Given the description of an element on the screen output the (x, y) to click on. 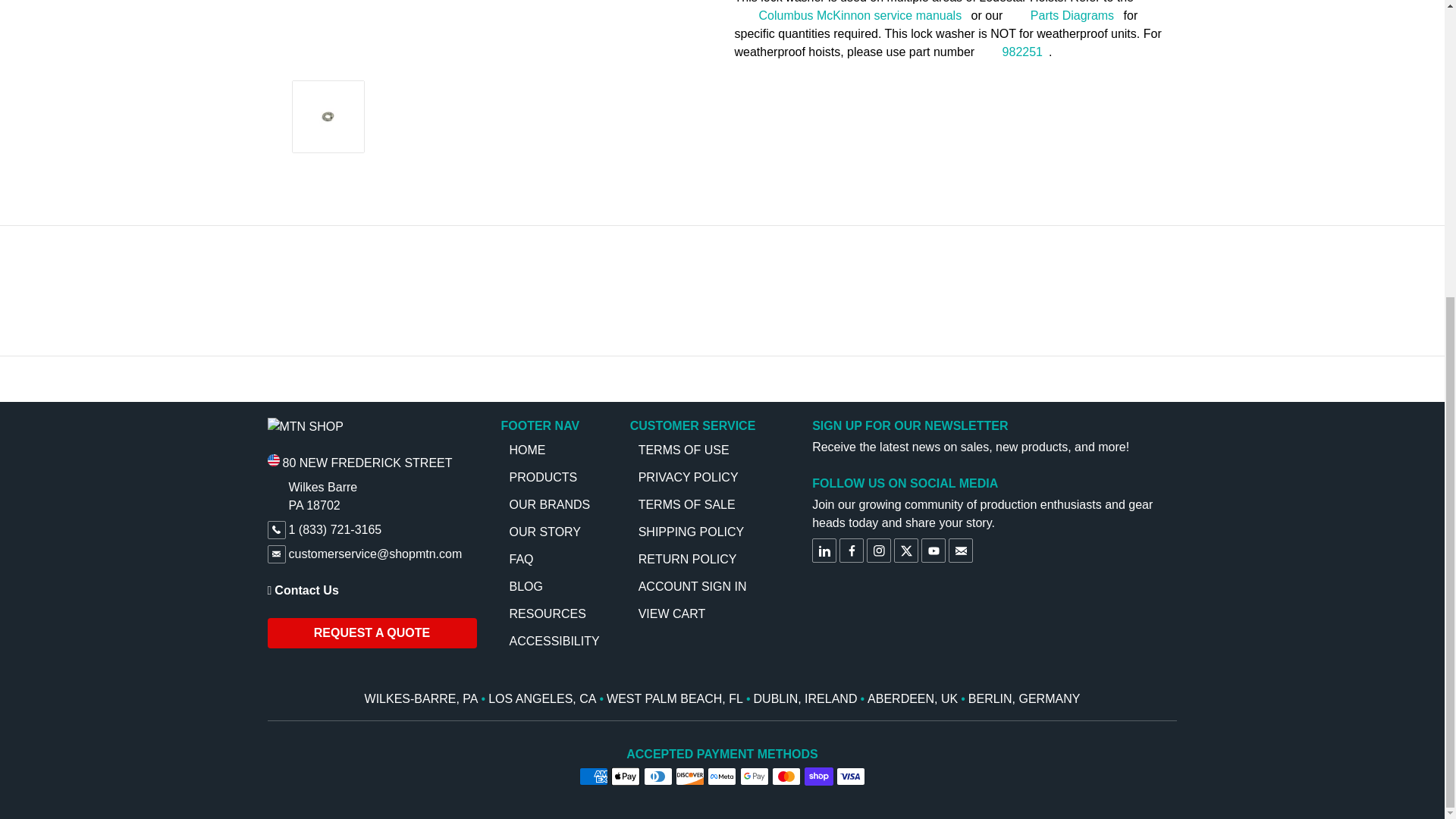
MTN SHOP on Instagram (878, 550)
MTN SHOP on Facebook (851, 550)
MTN SHOP on LinkedIn (823, 550)
MTN SHOP Quote Form (371, 633)
Email MTN SHOP (960, 550)
MTN SHOP Contact Us Form (371, 590)
MTN SHOP on YouTube (932, 550)
MTN SHOP on X (905, 550)
